Given the description of an element on the screen output the (x, y) to click on. 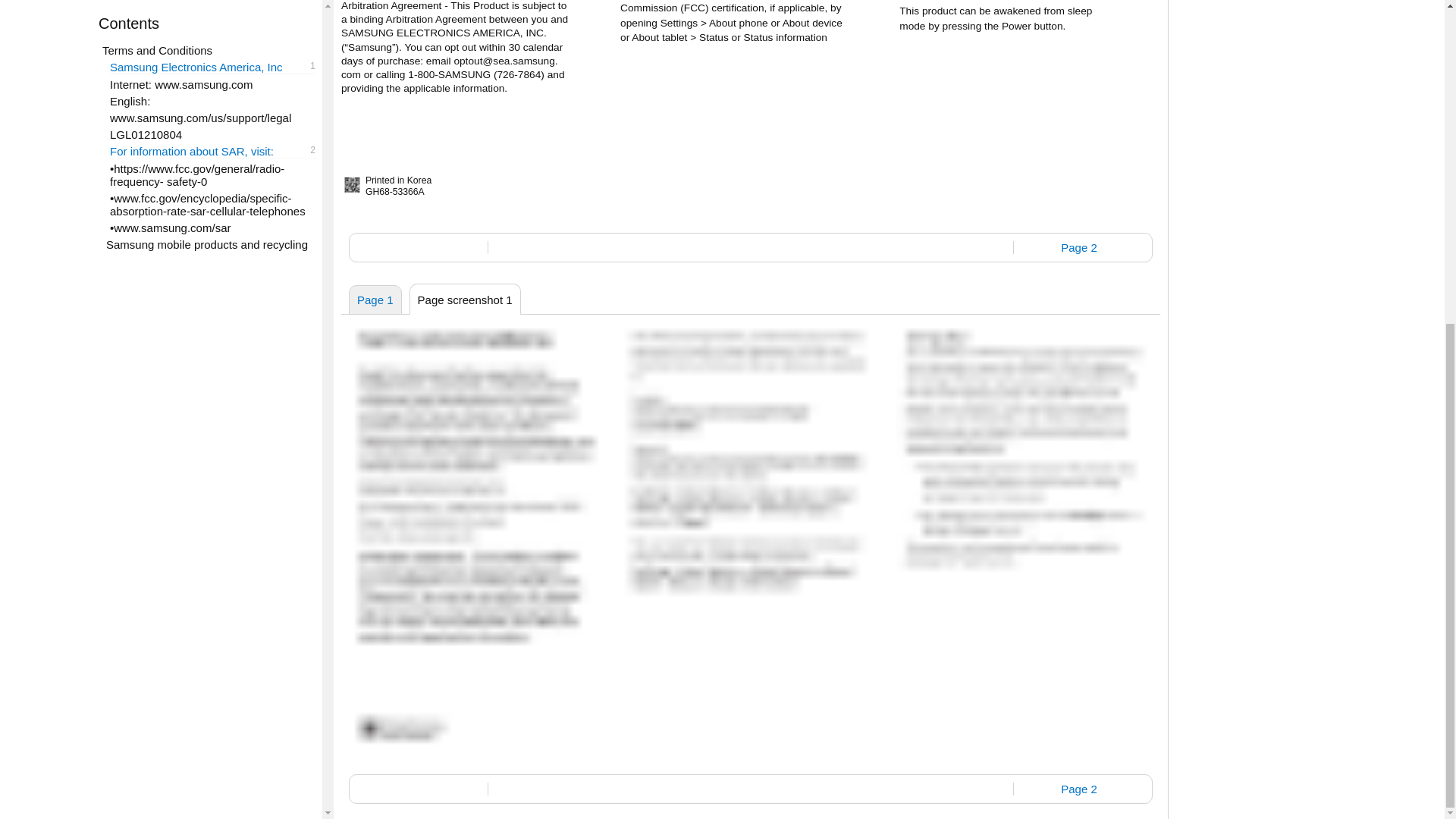
Page 1 (375, 299)
Page 2 (1078, 788)
Page 2 (1078, 246)
